Given the description of an element on the screen output the (x, y) to click on. 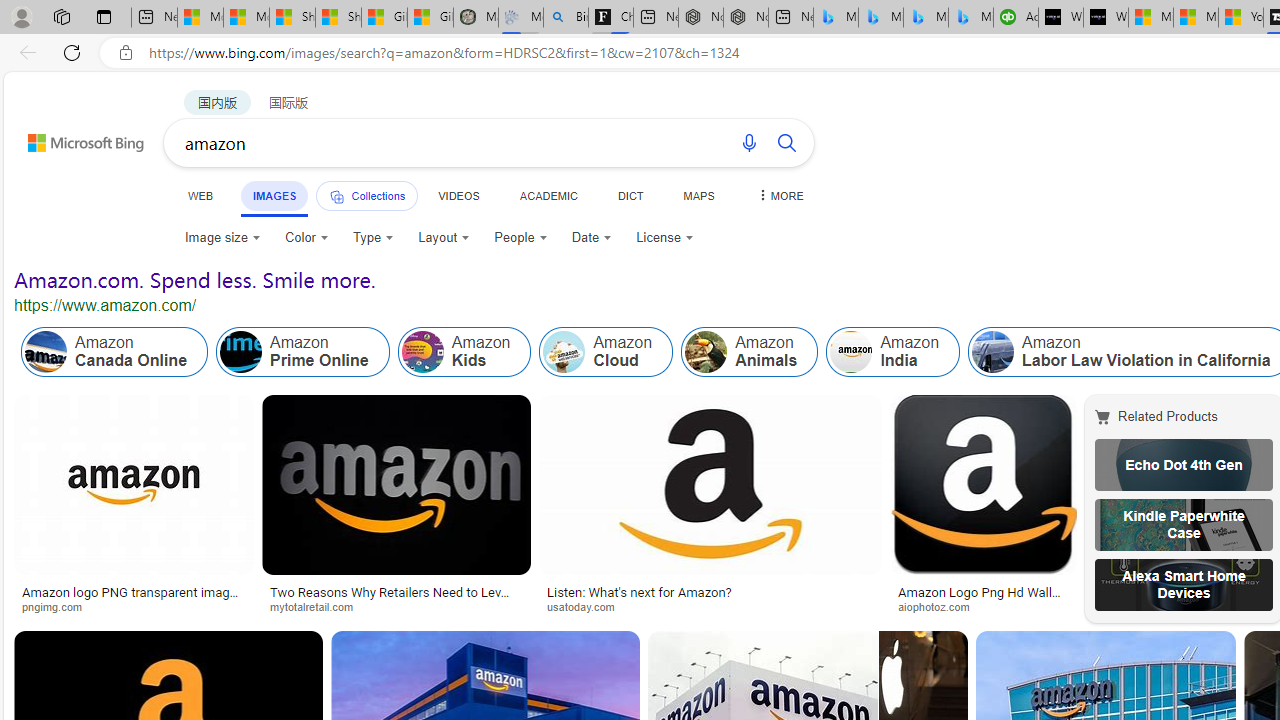
mytotalretail.com (319, 605)
pngimg.com (133, 606)
Two Reasons Why Retailers Need to Leverage Amazon (396, 598)
MORE (779, 195)
Amazon Canada Online (45, 351)
Image result for amazon (923, 675)
Kindle Paperwhite Case (1183, 524)
Accounting Software for Accountants, CPAs and Bookkeepers (1016, 17)
Nordace - #1 Japanese Best-Seller - Siena Smart Backpack (745, 17)
Image size (221, 237)
Amazon Logo Png Hd Wallpaper | Images and Photos finder (982, 598)
Date (591, 237)
